Given the description of an element on the screen output the (x, y) to click on. 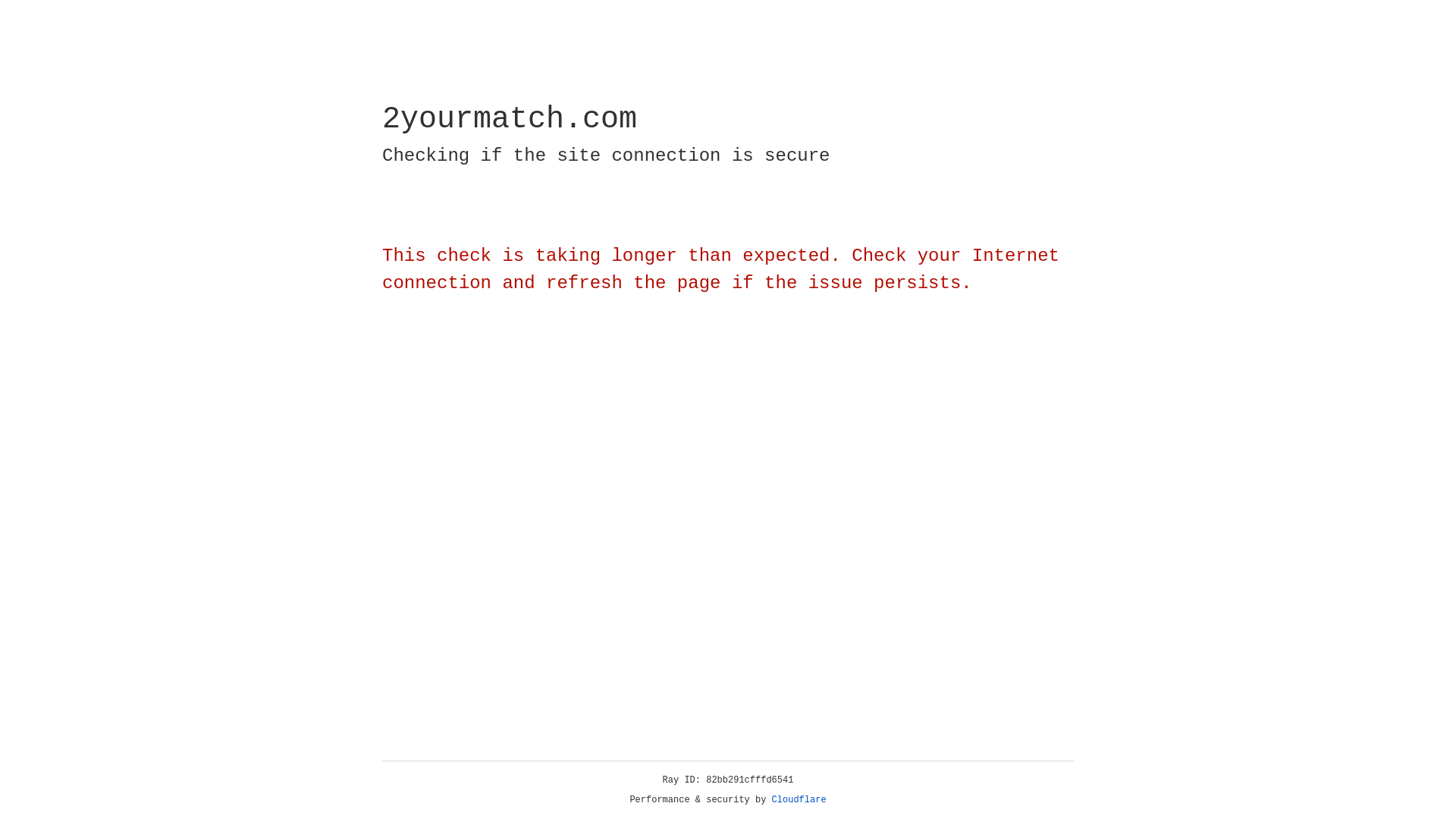
Cloudflare Element type: text (798, 799)
